Given the description of an element on the screen output the (x, y) to click on. 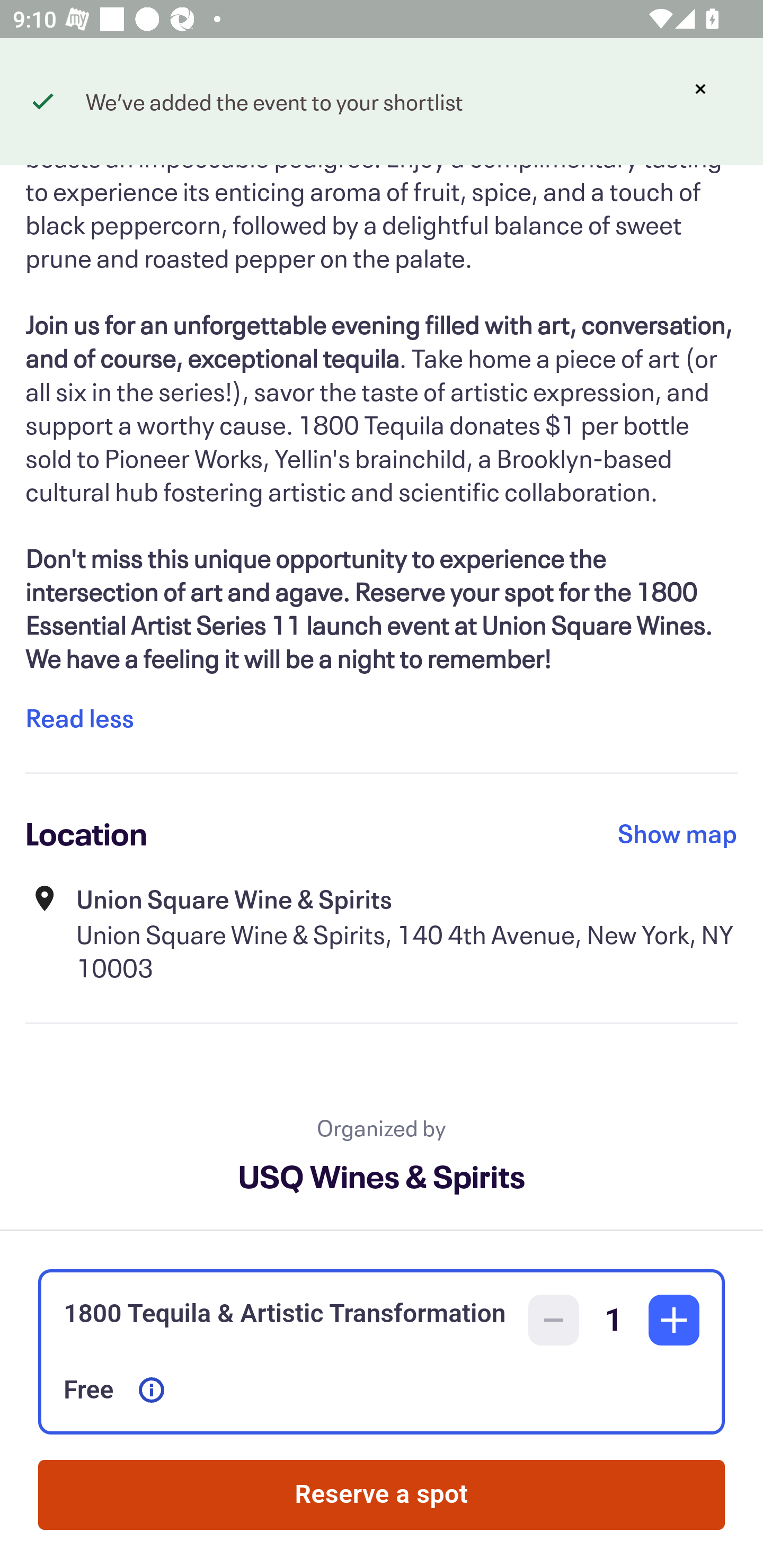
Back (57, 94)
Share (705, 94)
Read less (79, 716)
Show map (677, 832)
USQ Wines & Spirits (381, 1175)
Decrease (553, 1320)
Increase (673, 1320)
Show more information (151, 1389)
Reserve a spot (381, 1494)
